Given the description of an element on the screen output the (x, y) to click on. 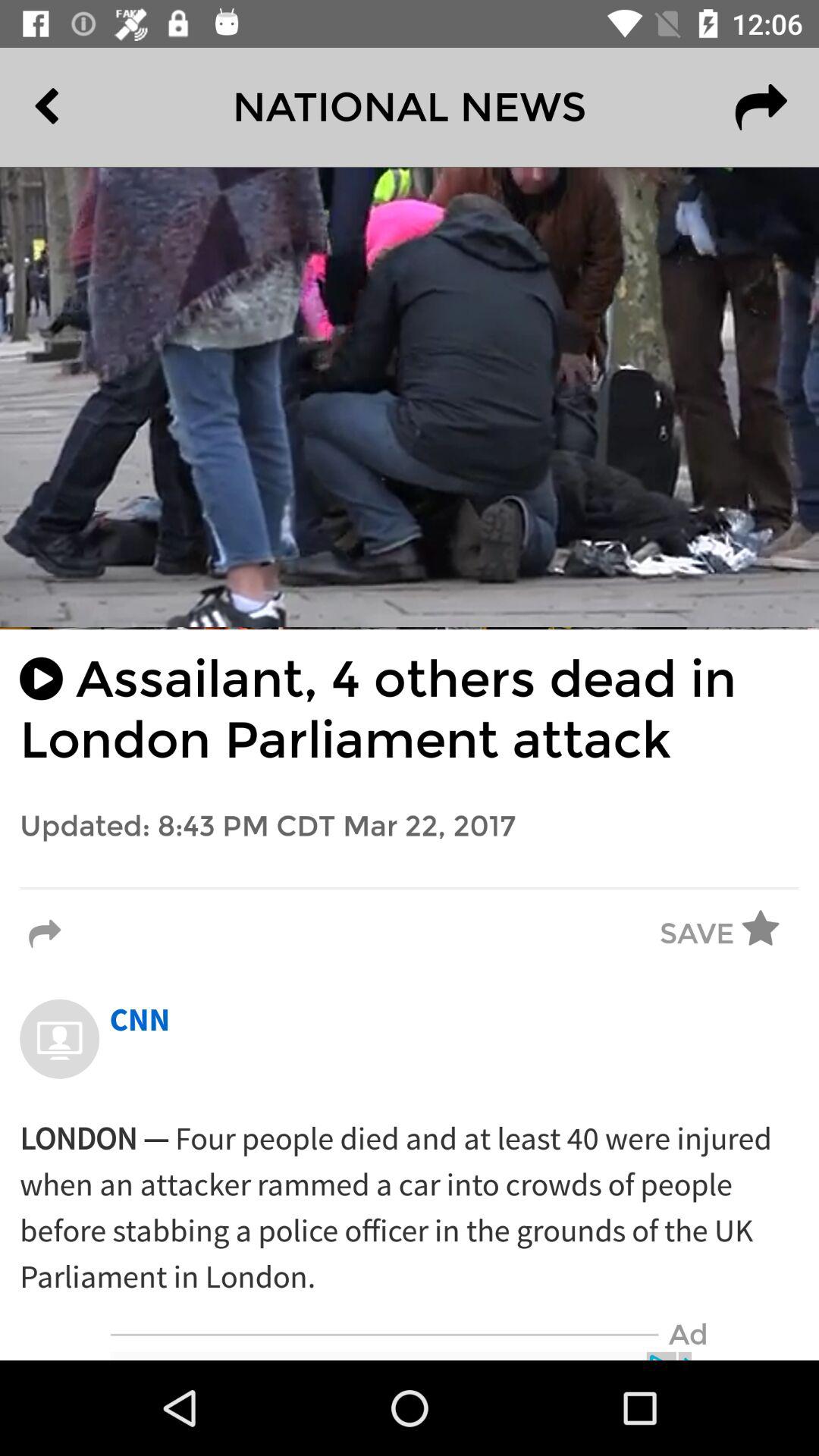
launch item at the top left corner (81, 107)
